Given the description of an element on the screen output the (x, y) to click on. 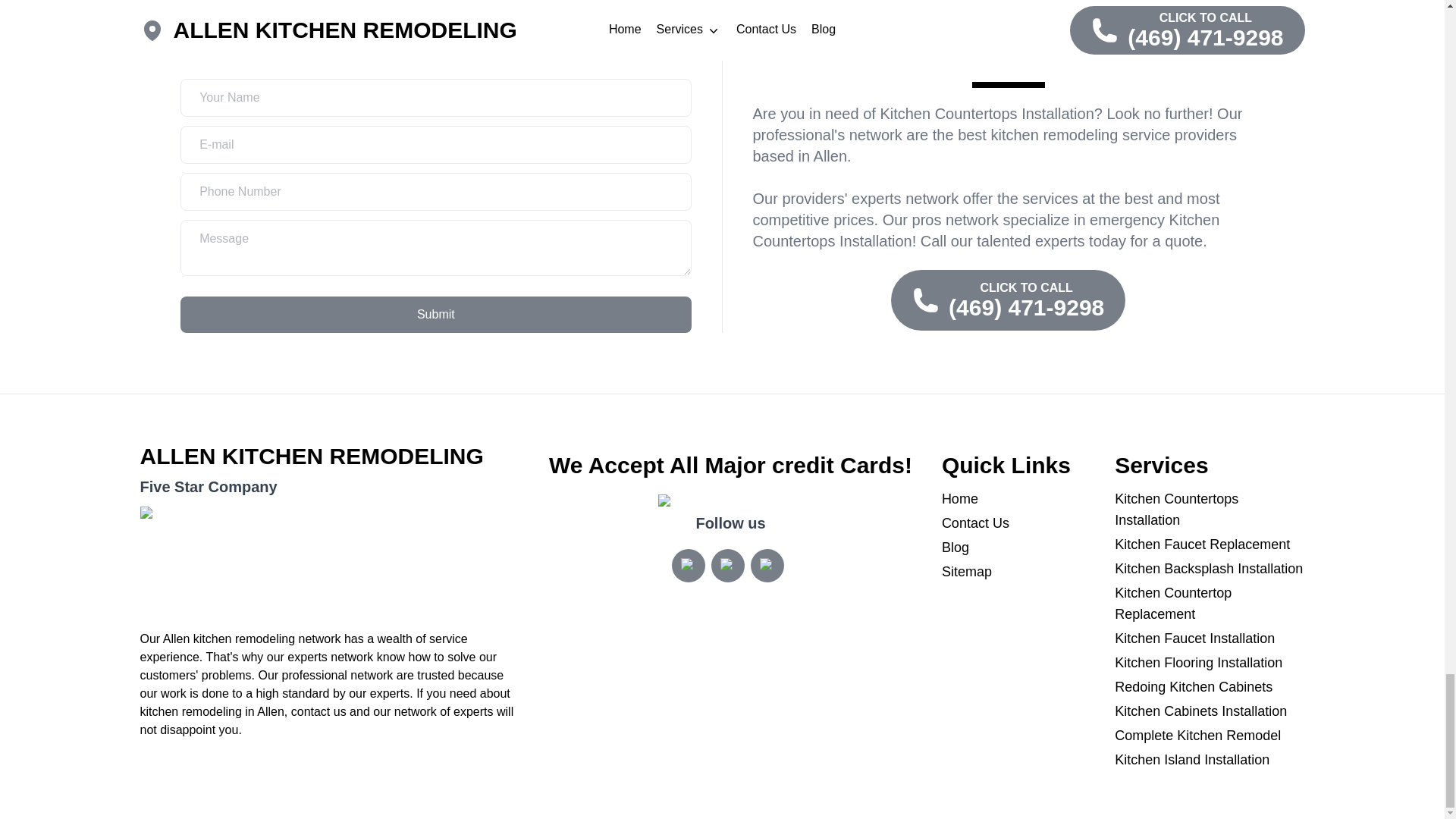
Facebook (767, 565)
Instagram (687, 565)
Instagram icon (688, 565)
Click to call us (1008, 300)
Bank Card Image (730, 503)
twitter logo (727, 565)
Star Set Image (329, 562)
Twitter (727, 565)
Facebook logo (767, 565)
